Given the description of an element on the screen output the (x, y) to click on. 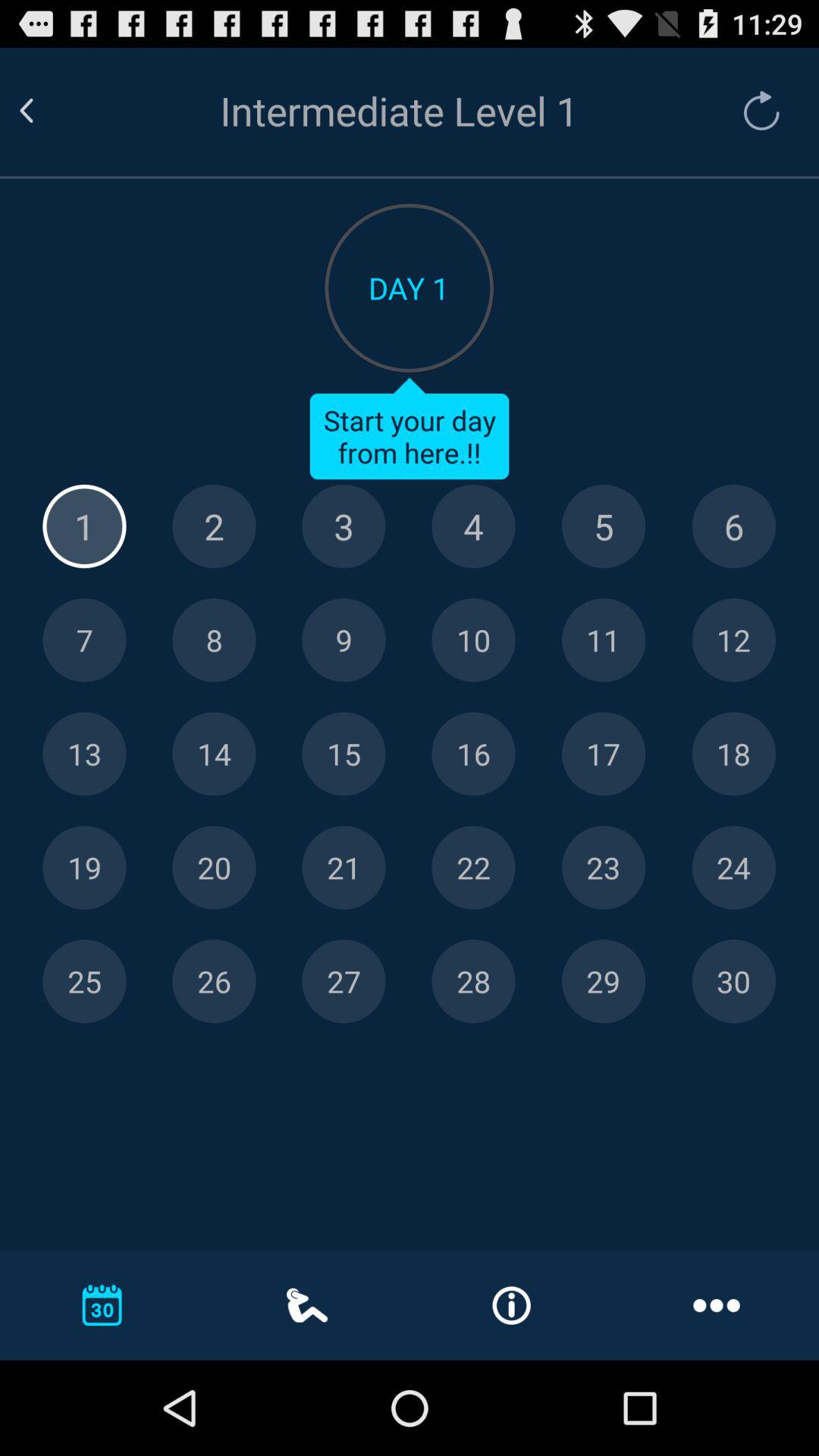
keyboard (343, 526)
